Given the description of an element on the screen output the (x, y) to click on. 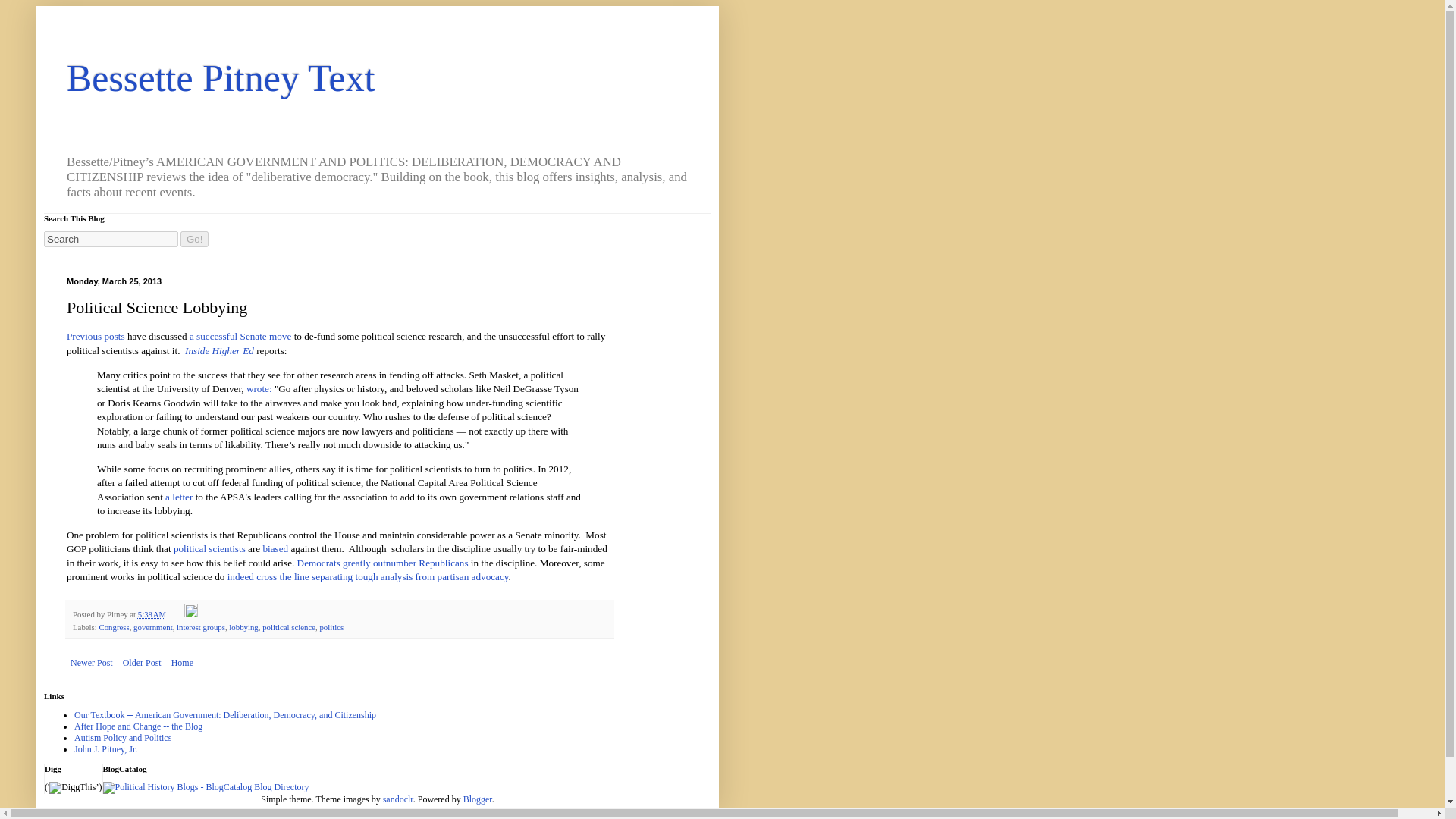
political science (288, 626)
permanent link (151, 614)
Blogger (477, 798)
a letter (178, 496)
Autism Policy and Politics (122, 737)
a successful Senate move (240, 336)
After Hope and Change -- the Blog (138, 726)
Newer Post (91, 662)
Inside Higher Ed (218, 350)
Older Post (142, 662)
Political History Blogs - BlogCatalog Blog Directory (205, 787)
Older Post (142, 662)
biased (274, 548)
sandoclr (397, 798)
